Given the description of an element on the screen output the (x, y) to click on. 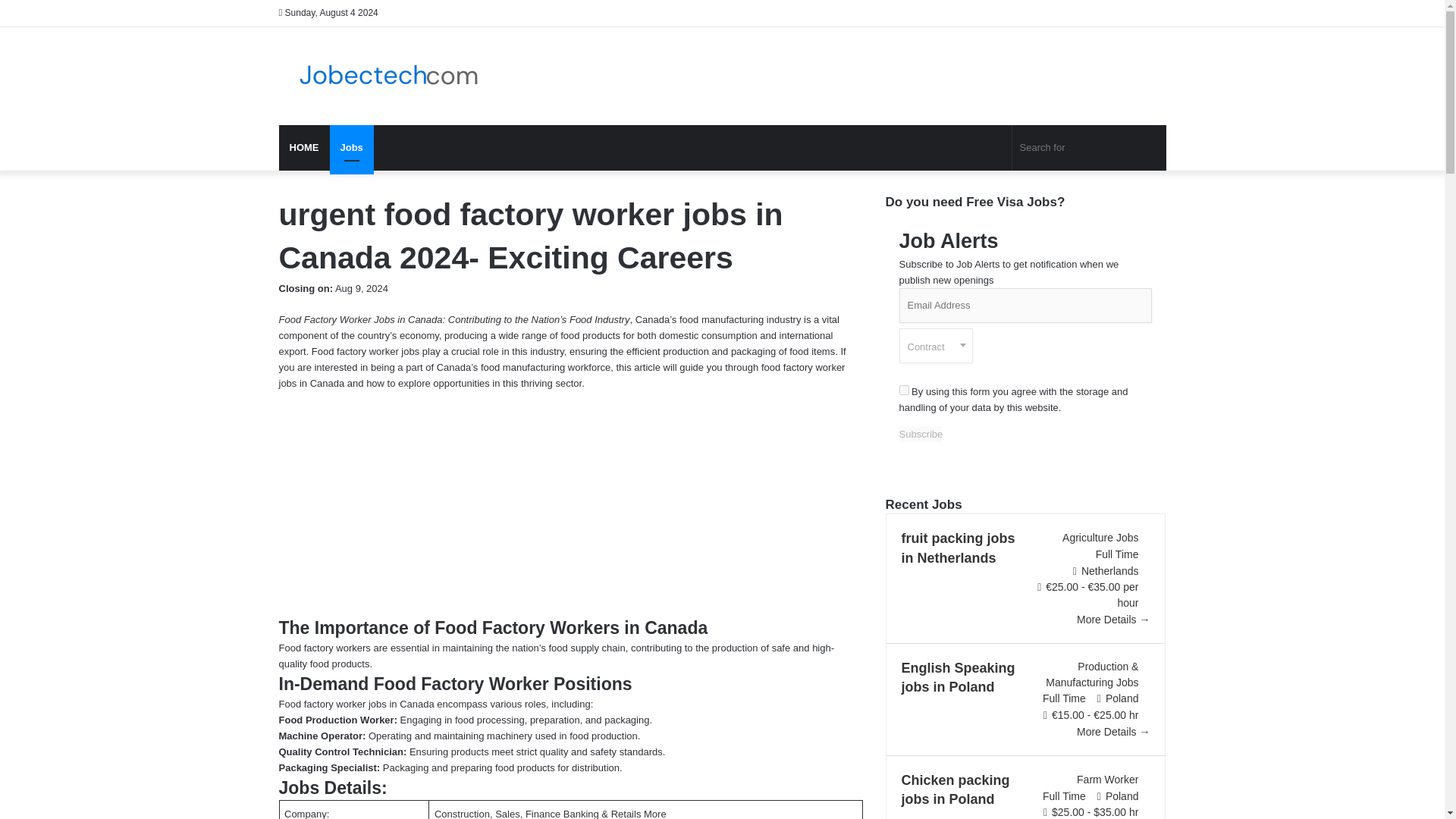
JOBECTECH (392, 76)
fruit packing jobs in Netherlands (957, 547)
Search for (1088, 147)
Subscribe (921, 433)
Agriculture Jobs (1100, 537)
Random Article (1131, 13)
Sidebar (1154, 13)
Jobs (350, 147)
Advertisement (571, 503)
on (903, 389)
Random Article (1131, 13)
Search for (1150, 147)
HOME (304, 147)
Full Time (1117, 553)
Log In (1109, 13)
